Given the description of an element on the screen output the (x, y) to click on. 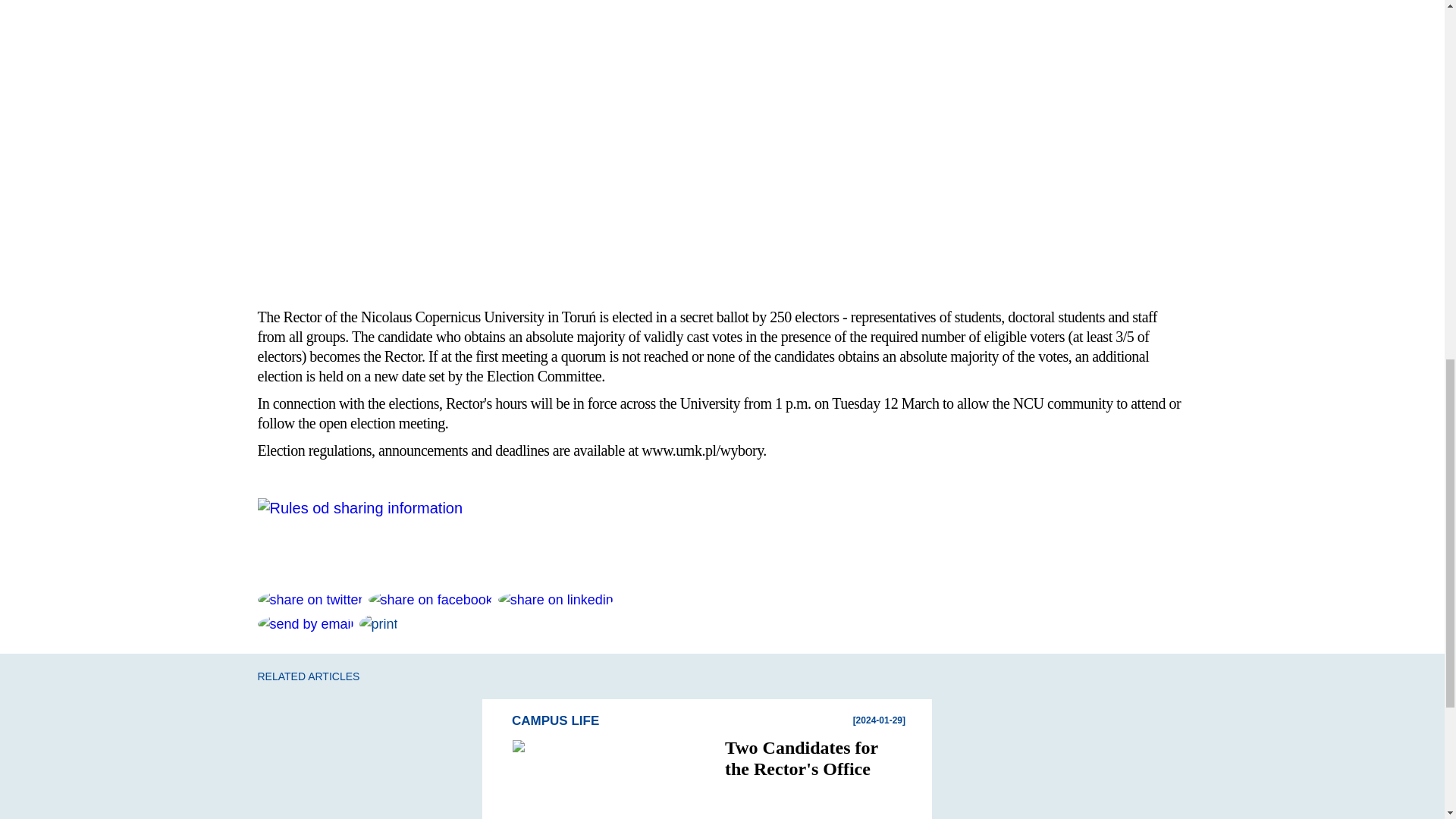
CAMPUS LIFE (713, 720)
